Given the description of an element on the screen output the (x, y) to click on. 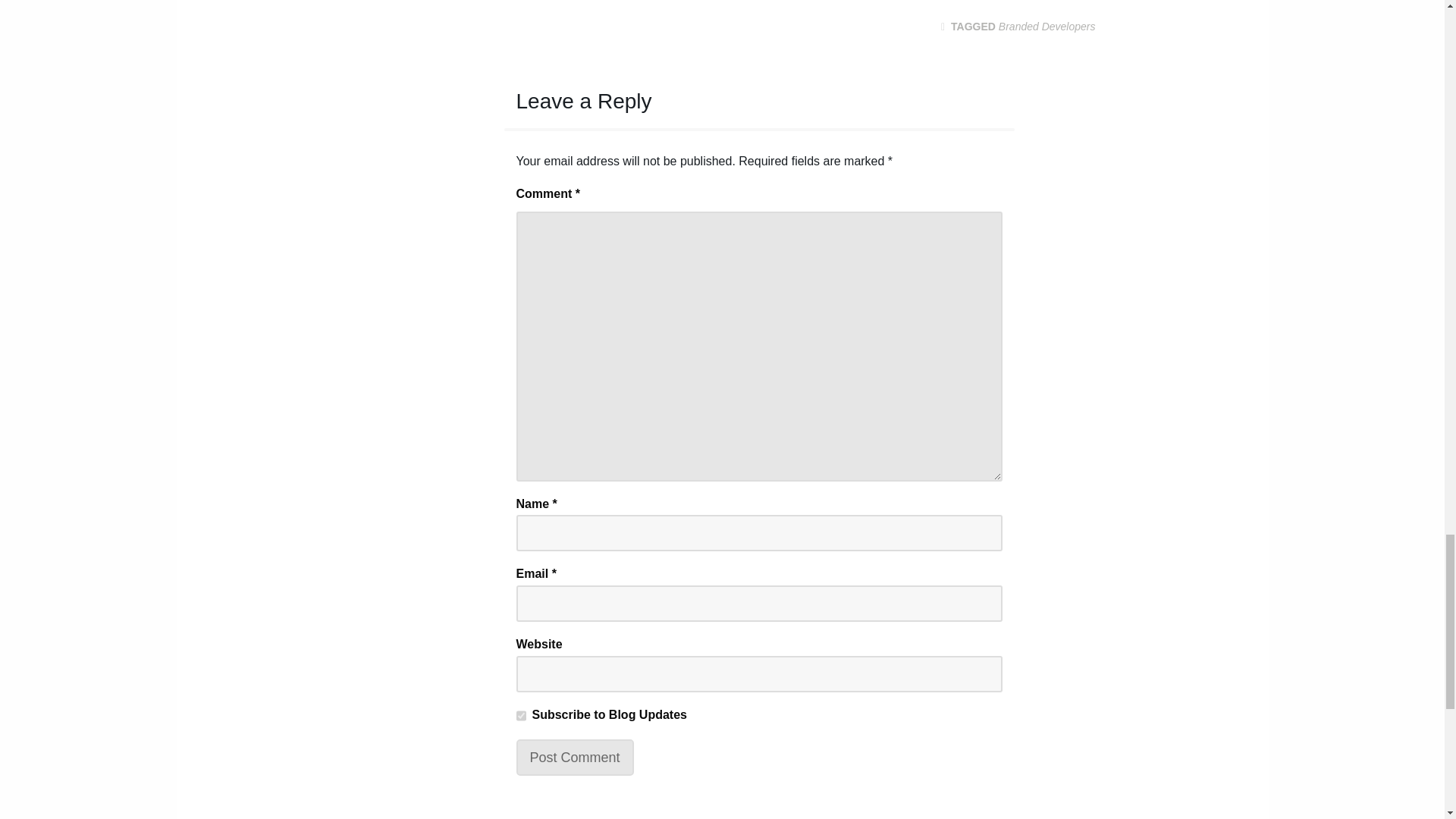
Post Comment (574, 757)
Branded Developers (1047, 26)
on (520, 715)
Post Comment (574, 757)
